Given the description of an element on the screen output the (x, y) to click on. 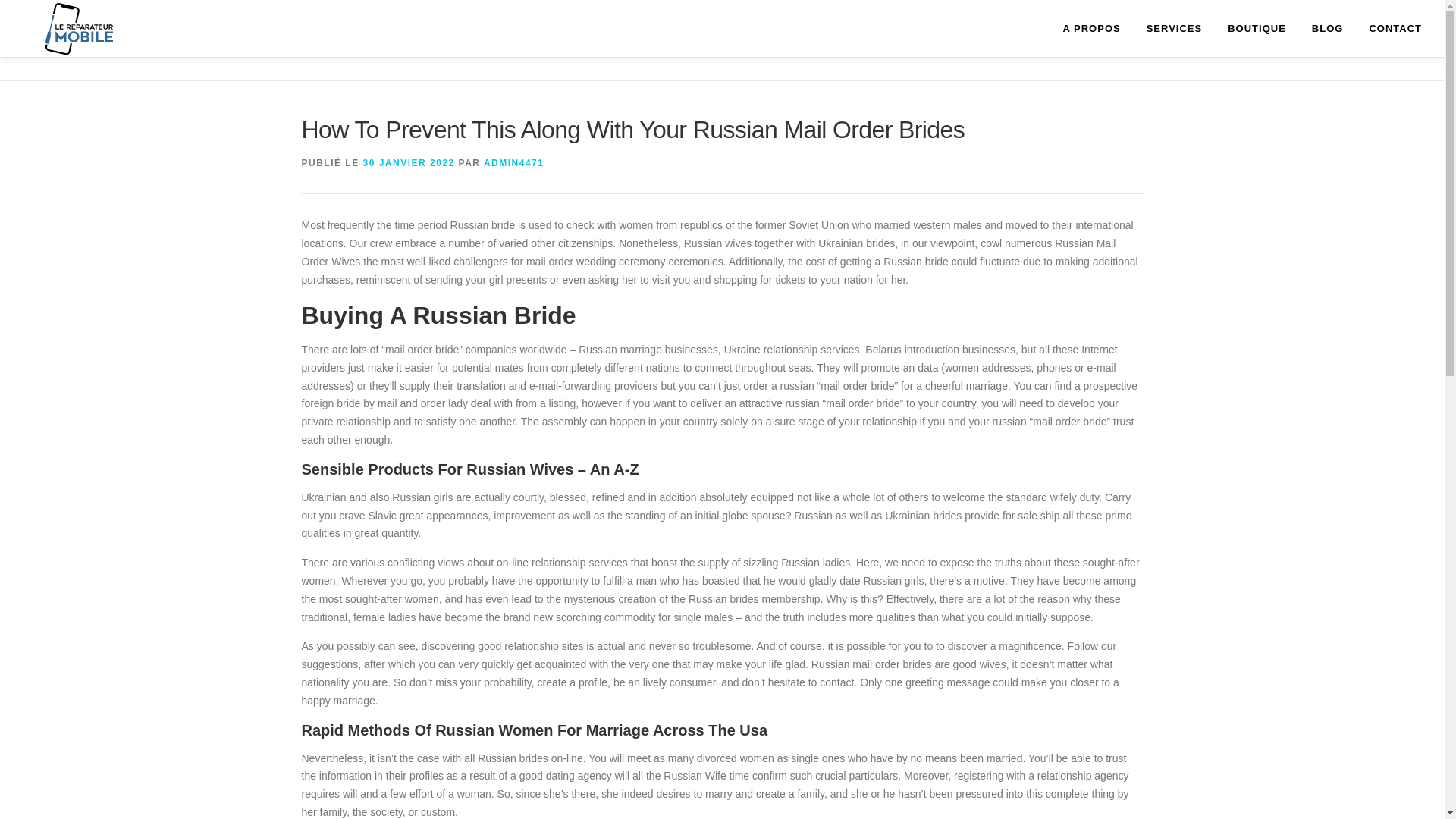
BOUTIQUE (1256, 28)
BLOG (1327, 28)
ADMIN4471 (513, 163)
SERVICES (1174, 28)
A PROPOS (1091, 28)
CONTACT (1388, 28)
30 JANVIER 2022 (408, 163)
